Given the description of an element on the screen output the (x, y) to click on. 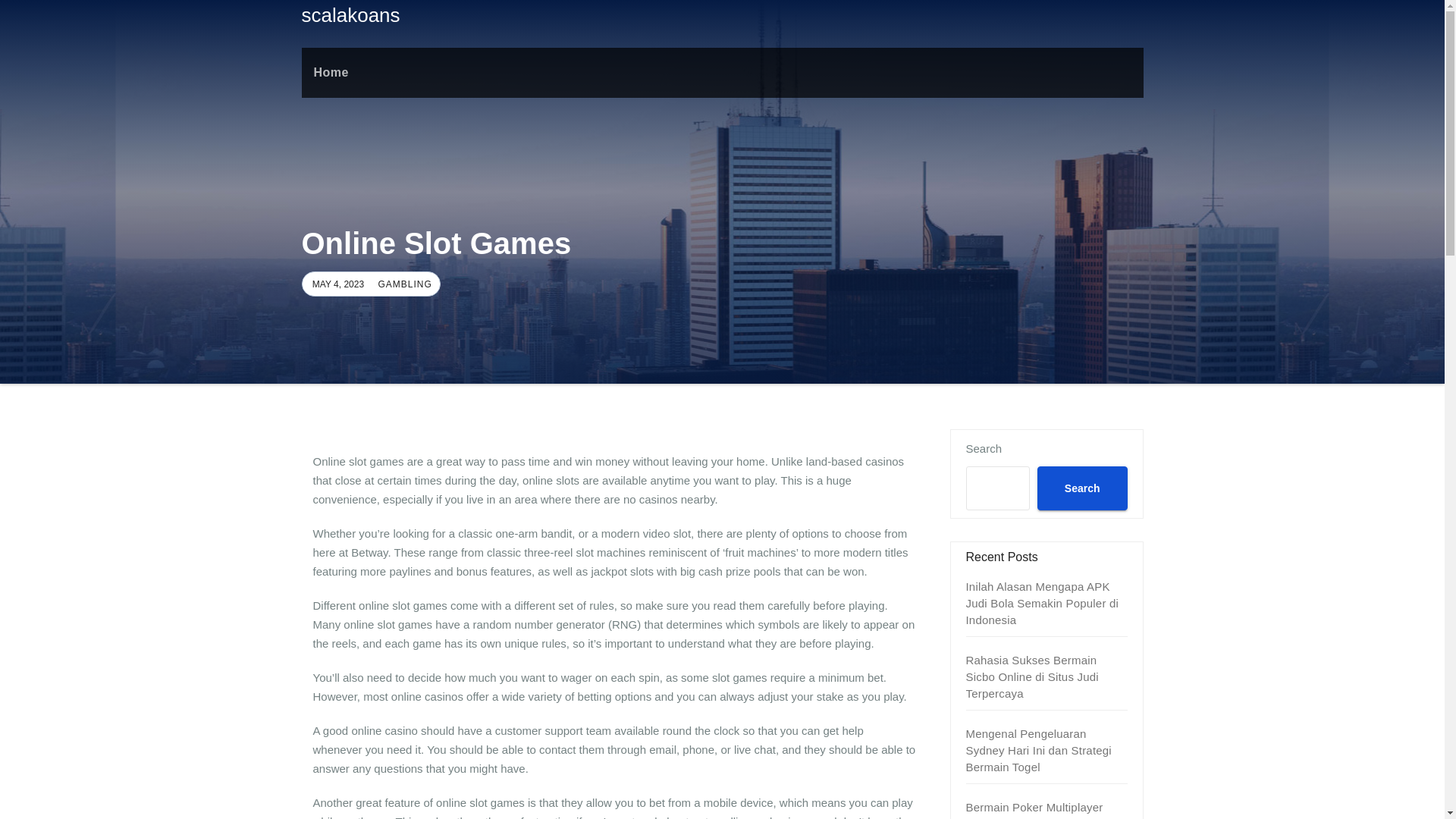
Rahasia Sukses Bermain Sicbo Online di Situs Judi Terpercaya (1032, 676)
GAMBLING (402, 284)
Home (331, 72)
Search (1081, 488)
scalakoans (350, 15)
Home (331, 72)
